Given the description of an element on the screen output the (x, y) to click on. 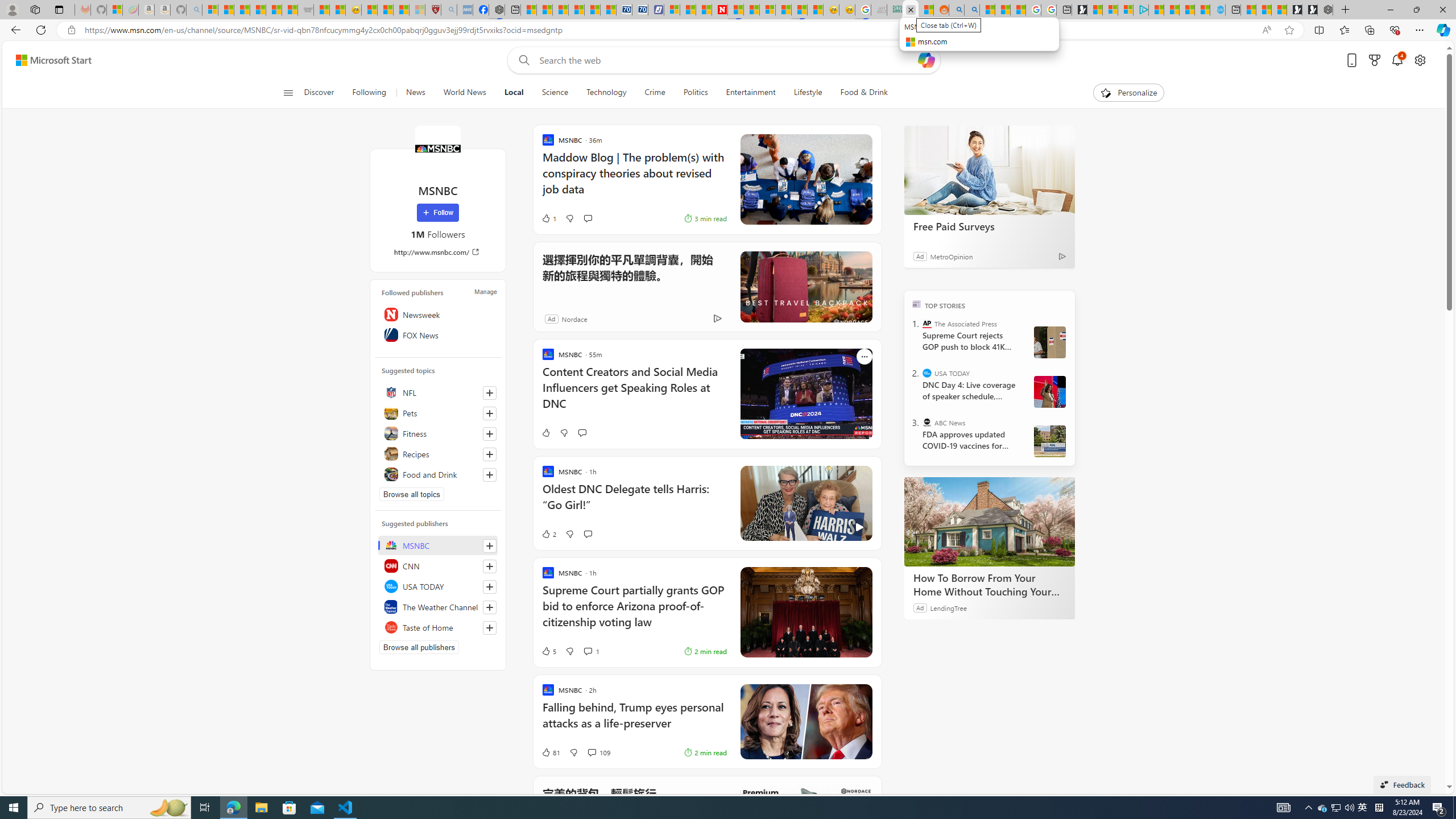
Taste of Home (437, 627)
Food & Drink (859, 92)
Entertainment (750, 92)
Follow (437, 212)
Entertainment (750, 92)
The Weather Channel - MSN (241, 9)
Lifestyle (807, 92)
Class: hero-image (805, 503)
